Given the description of an element on the screen output the (x, y) to click on. 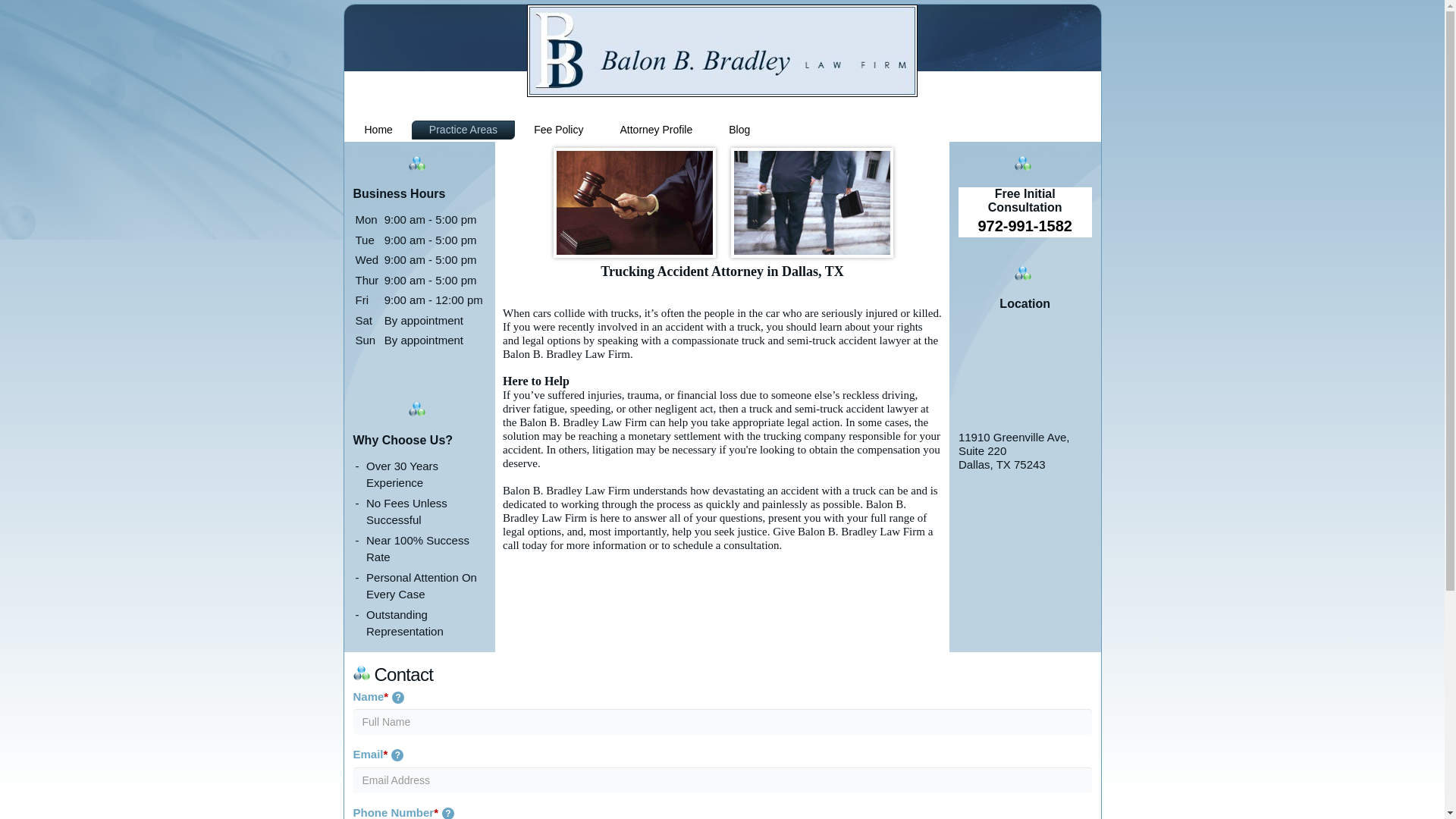
Attorney Profile (656, 129)
Enter your email address (722, 780)
Home (378, 129)
Enter your full name (722, 721)
Fee Policy (557, 129)
972-991-1582 (1023, 225)
Blog (739, 129)
The Balon B. Bradley Law Firm (722, 49)
Practice Areas (463, 129)
